Given the description of an element on the screen output the (x, y) to click on. 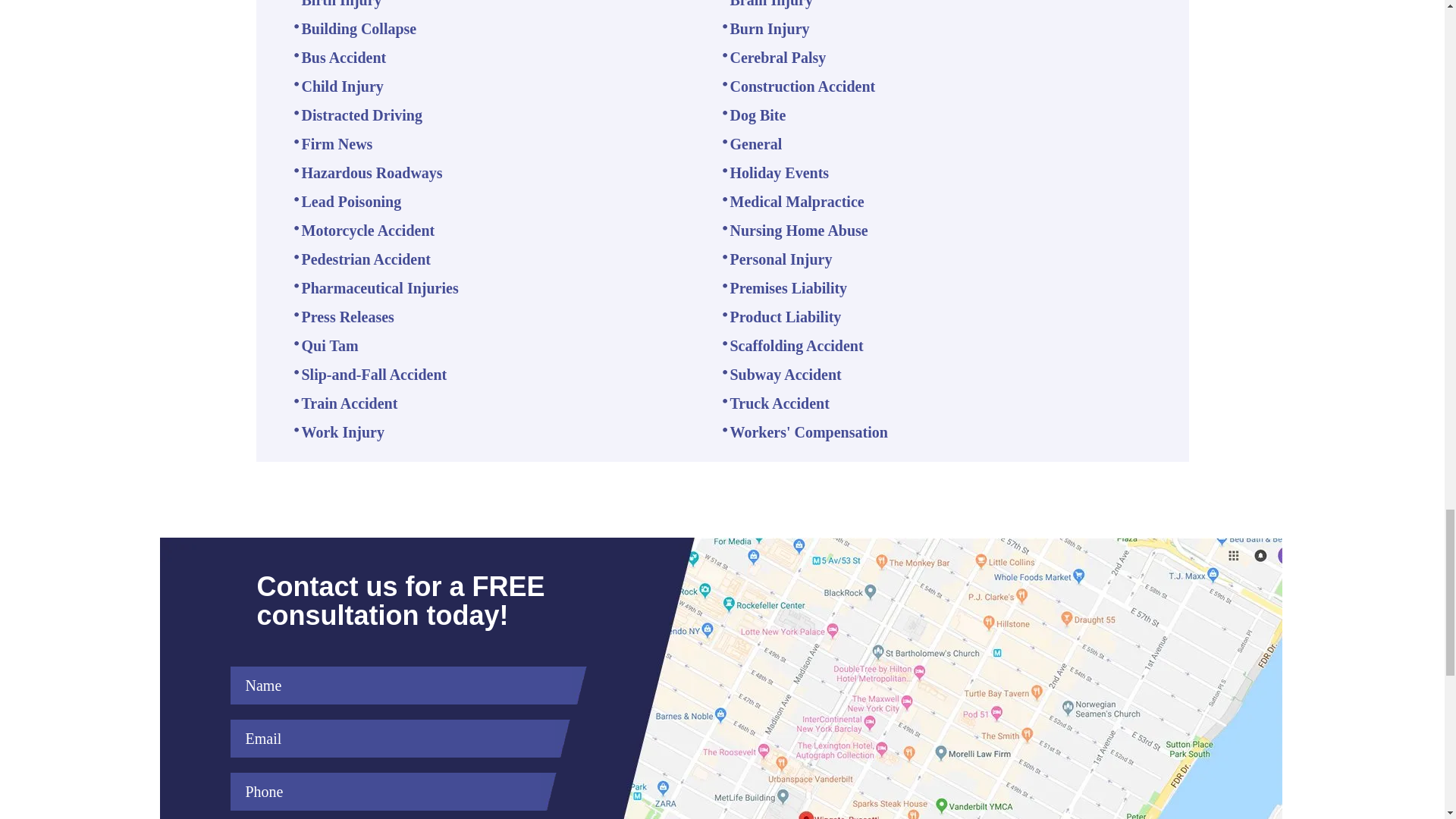
Bus Accident (344, 57)
Email (392, 738)
Name (401, 685)
Construction Accident (802, 86)
Child Injury (342, 86)
Phone (385, 791)
Birth Injury (341, 4)
Brain Injury (770, 4)
Burn Injury (769, 28)
Cerebral Palsy (777, 57)
Building Collapse (358, 28)
